Given the description of an element on the screen output the (x, y) to click on. 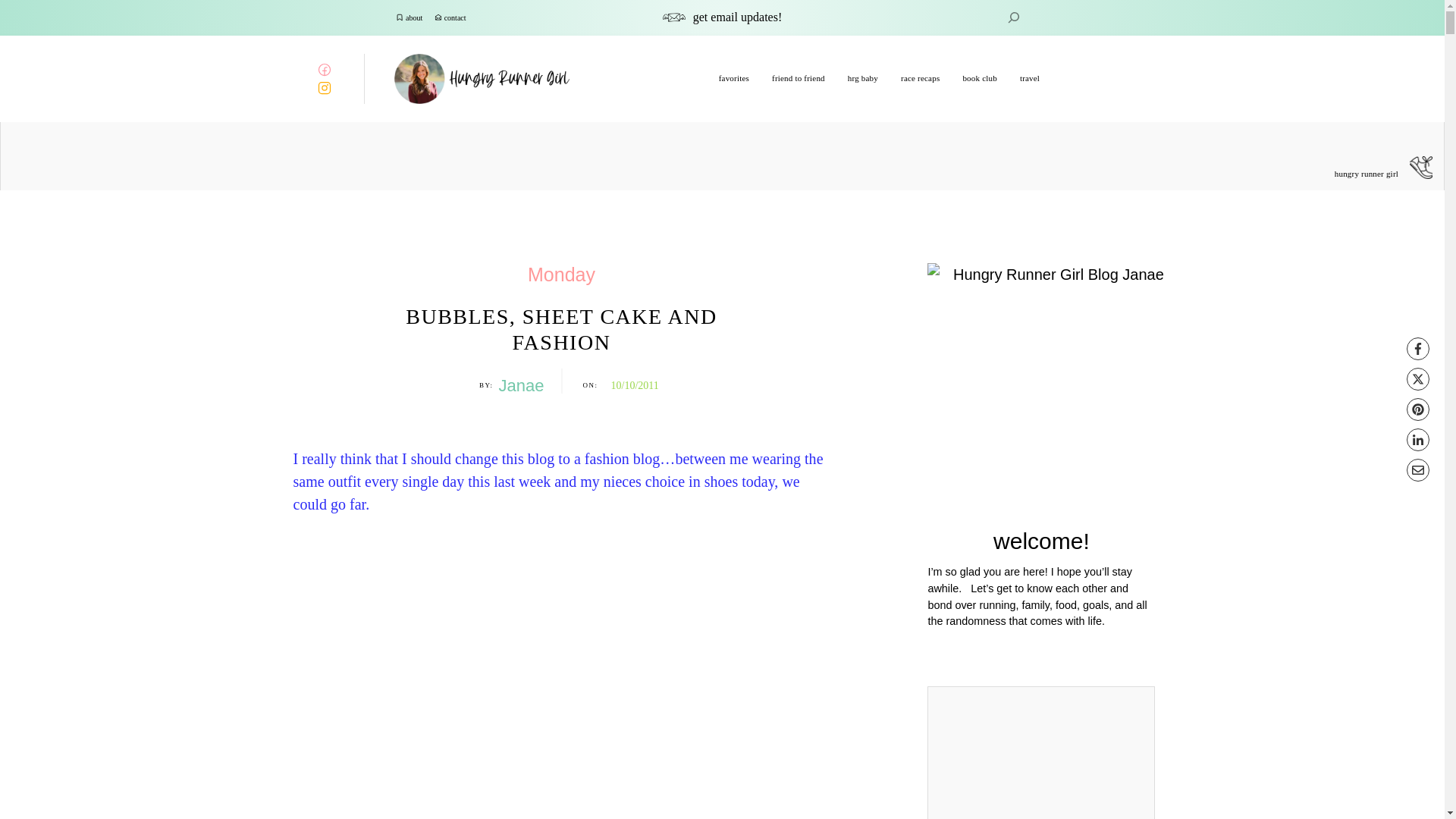
hrg baby (862, 77)
book club (979, 77)
travel (1029, 77)
favorites (734, 77)
race recaps (920, 77)
contact (454, 17)
about (414, 17)
friend to friend (798, 77)
get email updates! (738, 16)
